Given the description of an element on the screen output the (x, y) to click on. 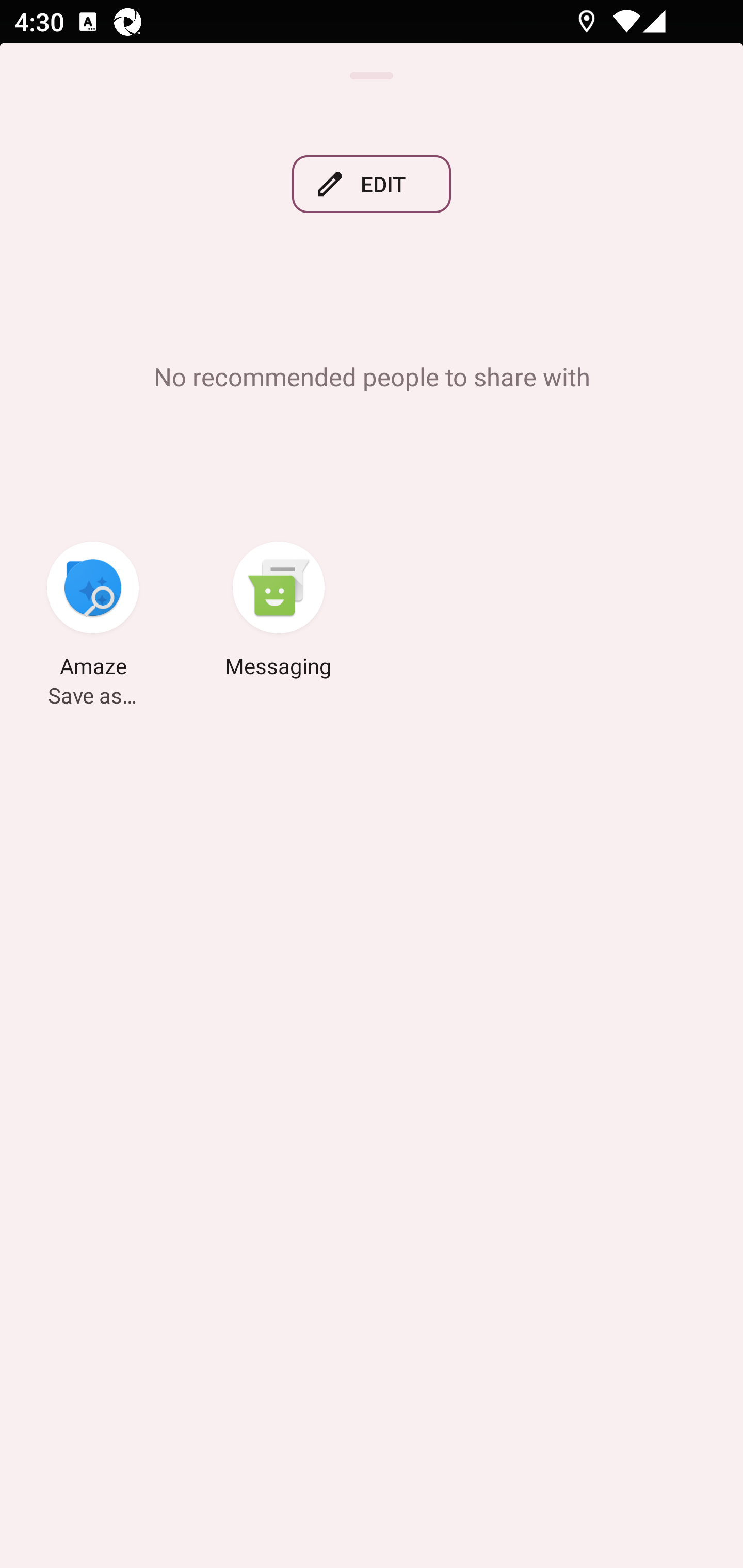
EDIT (371, 184)
Amaze Save as… (92, 611)
Messaging (278, 611)
